Given the description of an element on the screen output the (x, y) to click on. 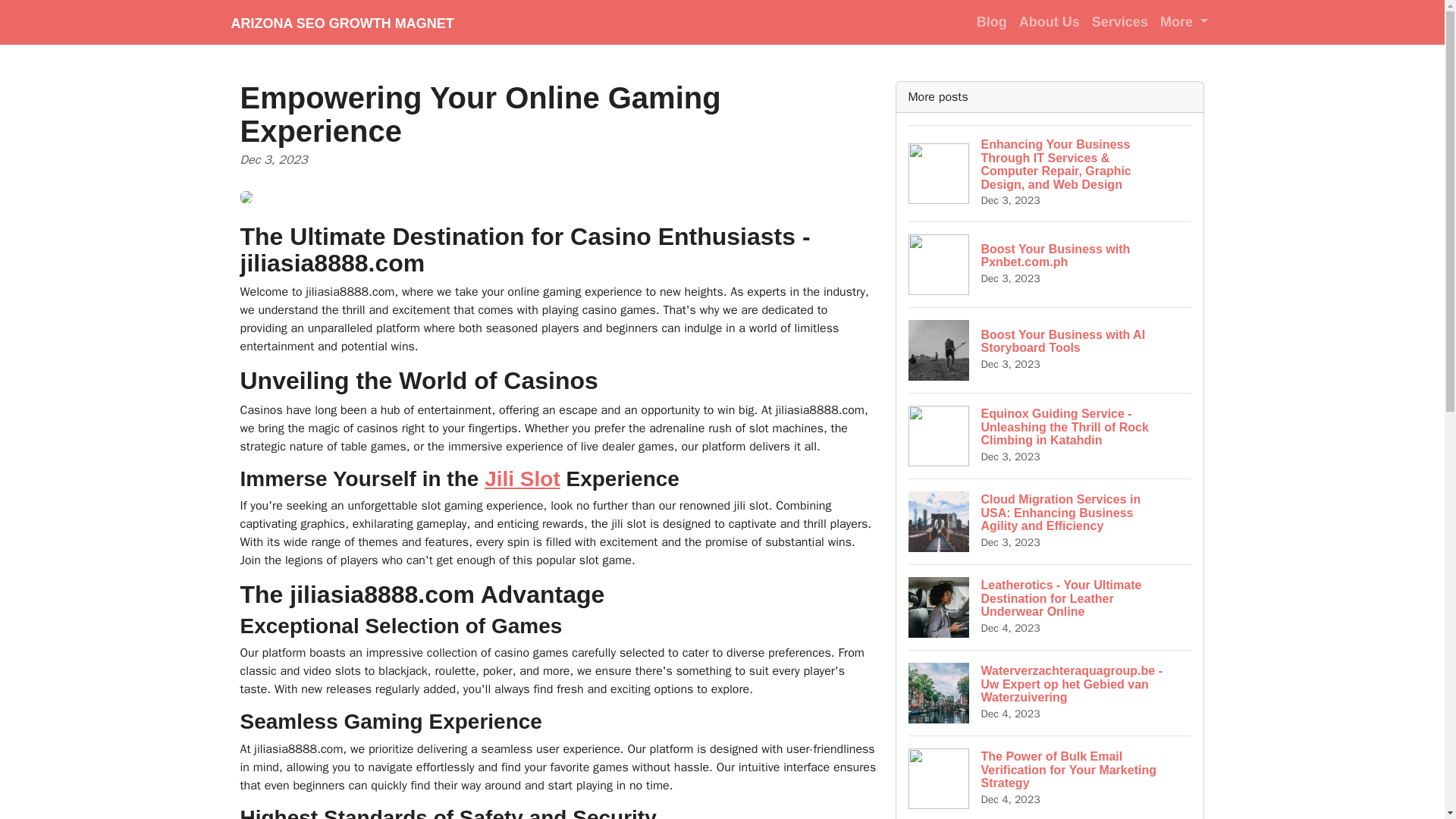
ARIZONA SEO GROWTH MAGNET (341, 22)
Jili Slot (1050, 264)
Blog (522, 478)
About Us (992, 21)
Services (1049, 21)
More (1120, 21)
